Given the description of an element on the screen output the (x, y) to click on. 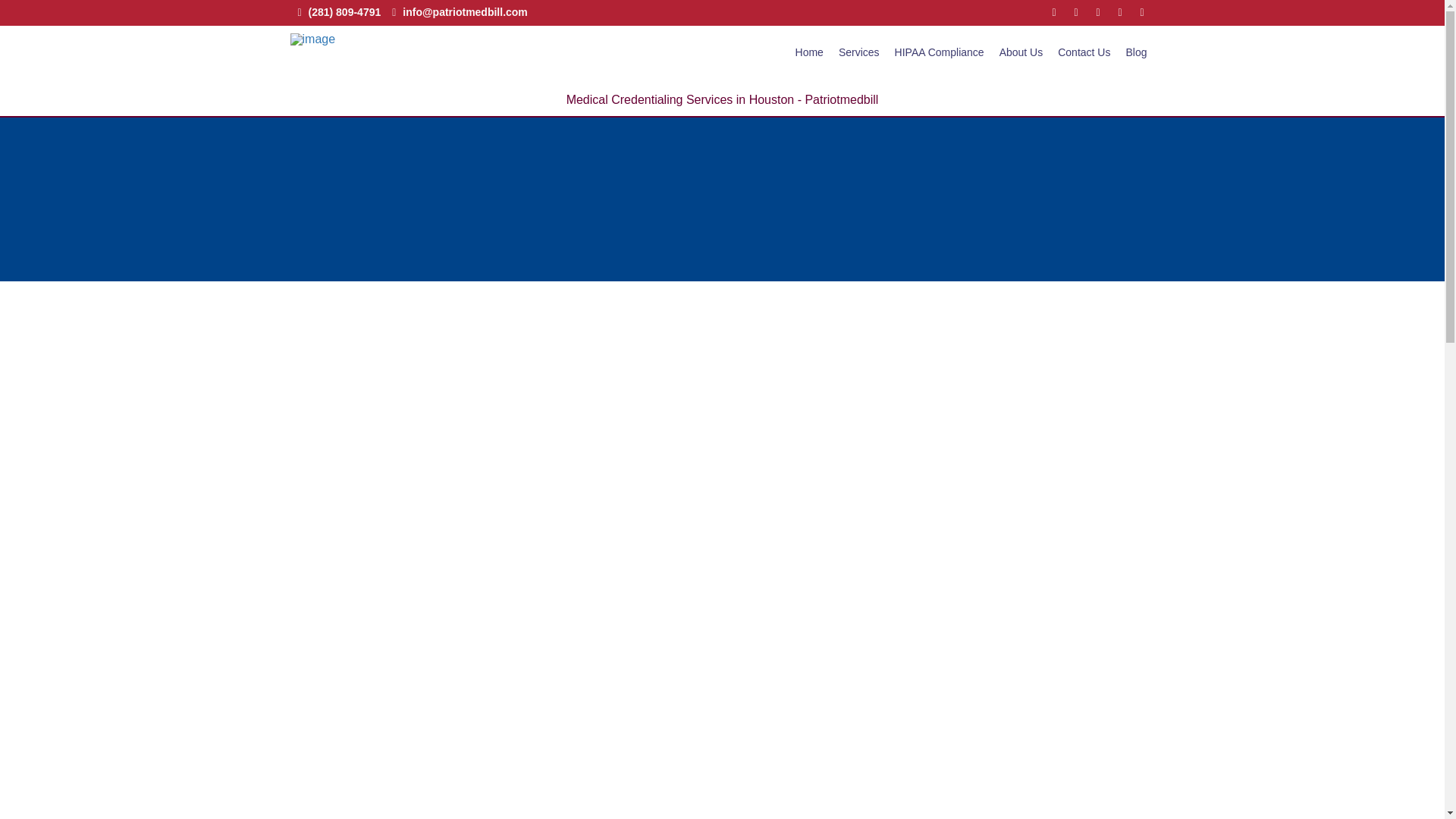
image (311, 39)
HIPAA Compliance (938, 54)
Contact Us (1083, 54)
Services (858, 54)
About Us (1021, 54)
Home (809, 54)
Blog (1136, 54)
